Given the description of an element on the screen output the (x, y) to click on. 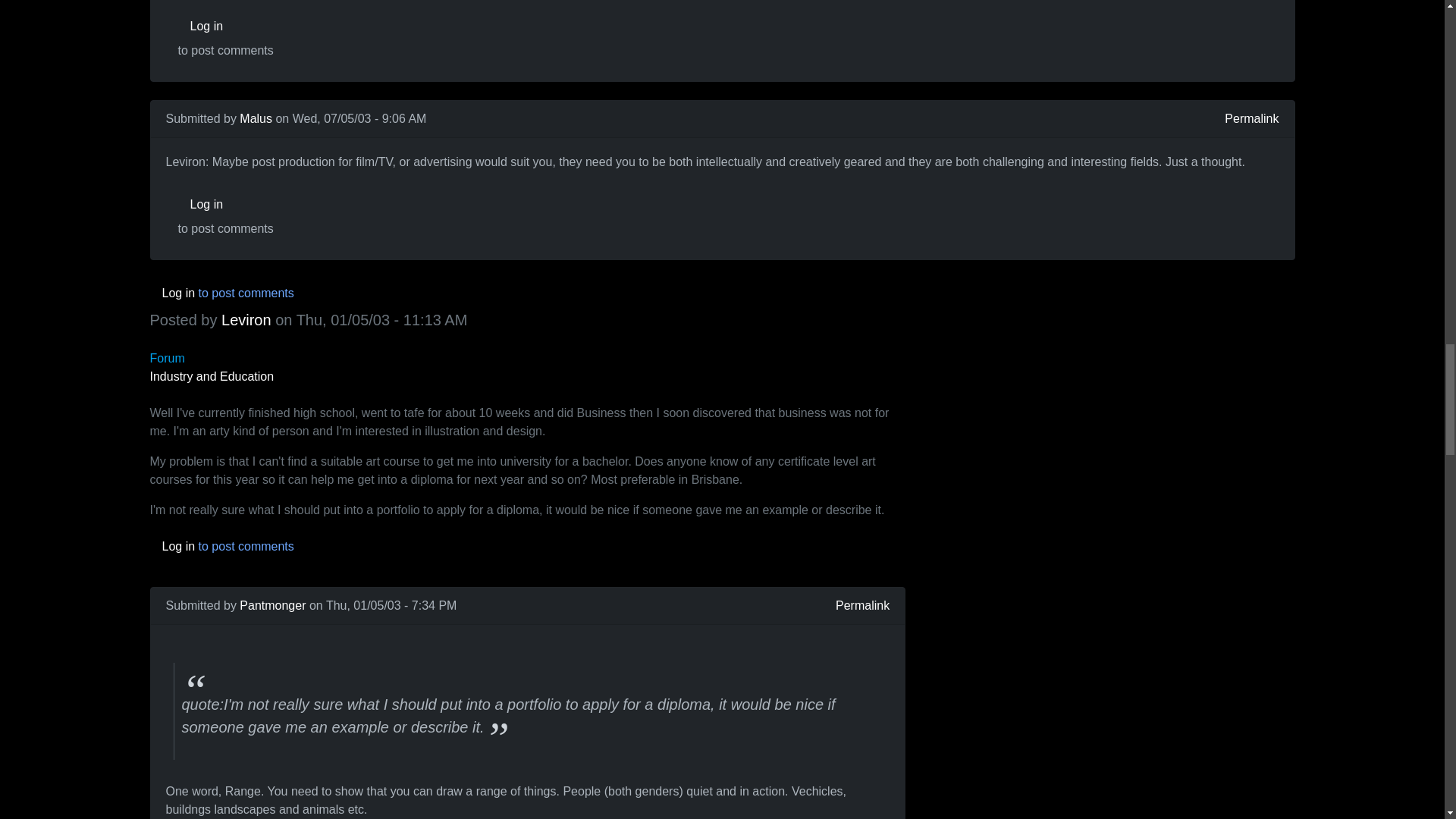
View user profile. (245, 320)
View user profile. (256, 118)
Thursday, 1 May, 2003 - 11:13 AM (382, 320)
View user profile. (272, 604)
